Given the description of an element on the screen output the (x, y) to click on. 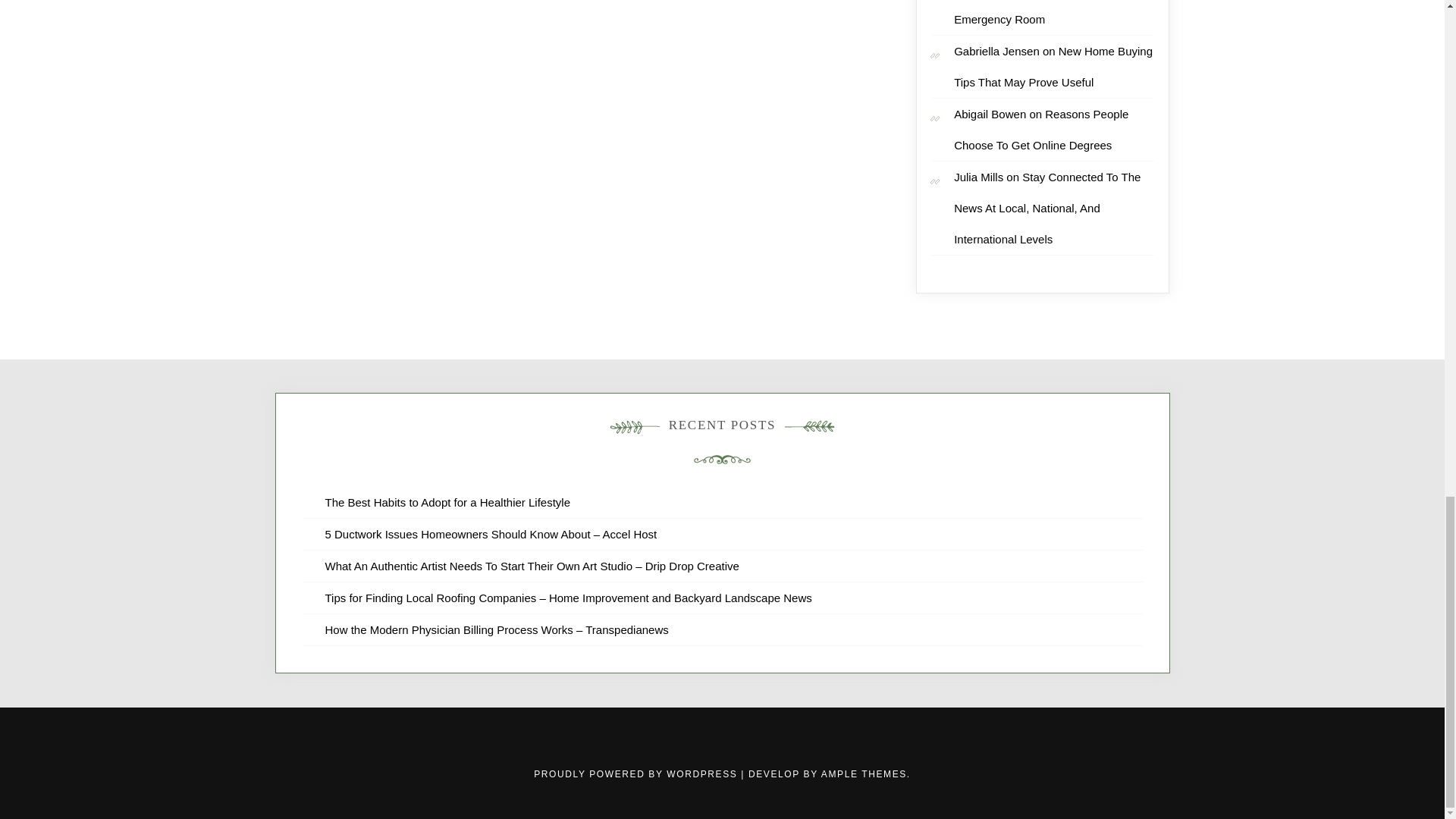
The Best Habits to Adopt for a Healthier Lifestyle (447, 502)
PROUDLY POWERED BY WORDPRESS (637, 774)
Gabriella Jensen (996, 51)
Reasons People Choose To Get Online Degrees (1040, 129)
Julia Mills (978, 176)
New Home Buying Tips That May Prove Useful (1053, 66)
Urgent Care When you Do Not actually Need the Emergency Room (1053, 12)
